Given the description of an element on the screen output the (x, y) to click on. 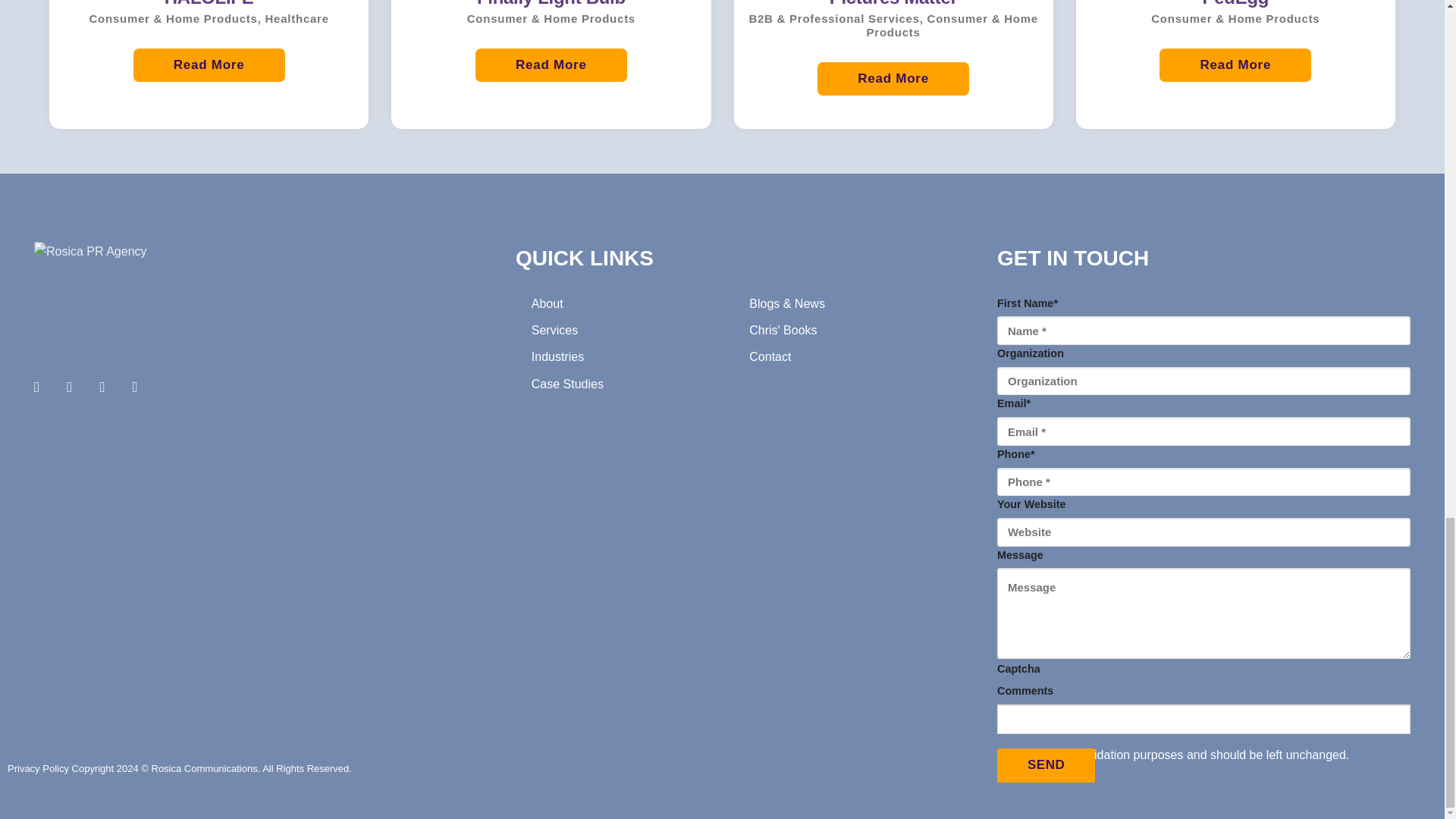
Follow on Facebook (40, 386)
Follow on Twitter (106, 386)
Send (1045, 765)
Follow on LinkedIn (139, 386)
Follow on Instagram (73, 386)
